Given the description of an element on the screen output the (x, y) to click on. 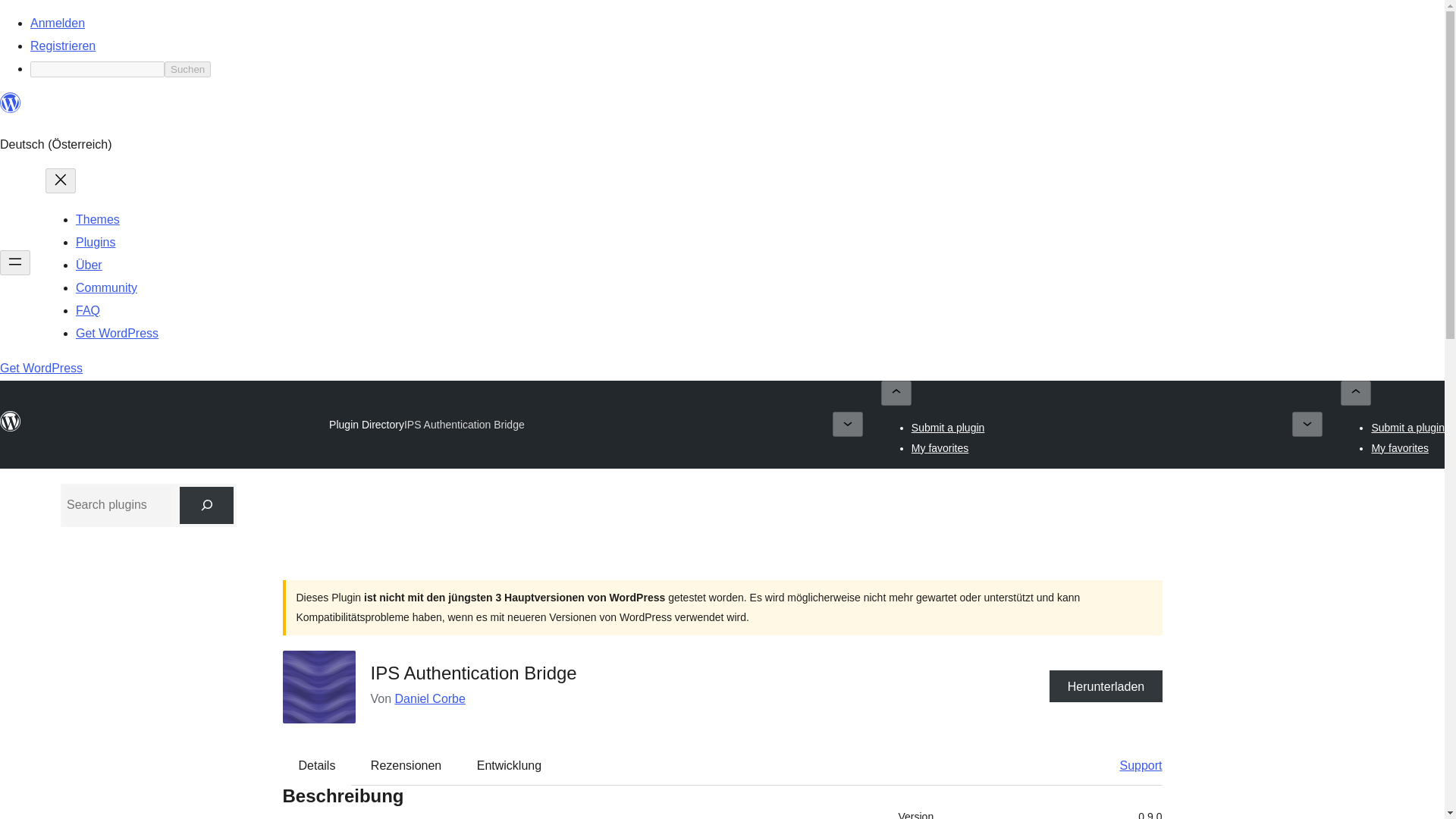
Themes (97, 219)
WordPress.org (10, 421)
FAQ (87, 309)
Submit a plugin (948, 427)
Plugin Directory (366, 424)
WordPress.org (10, 102)
My favorites (1399, 447)
Community (105, 287)
Suchen (187, 68)
Anmelden (57, 22)
Daniel Corbe (429, 698)
IPS Authentication Bridge (464, 424)
Get WordPress (116, 332)
Plugins (95, 241)
Suchen (187, 68)
